Given the description of an element on the screen output the (x, y) to click on. 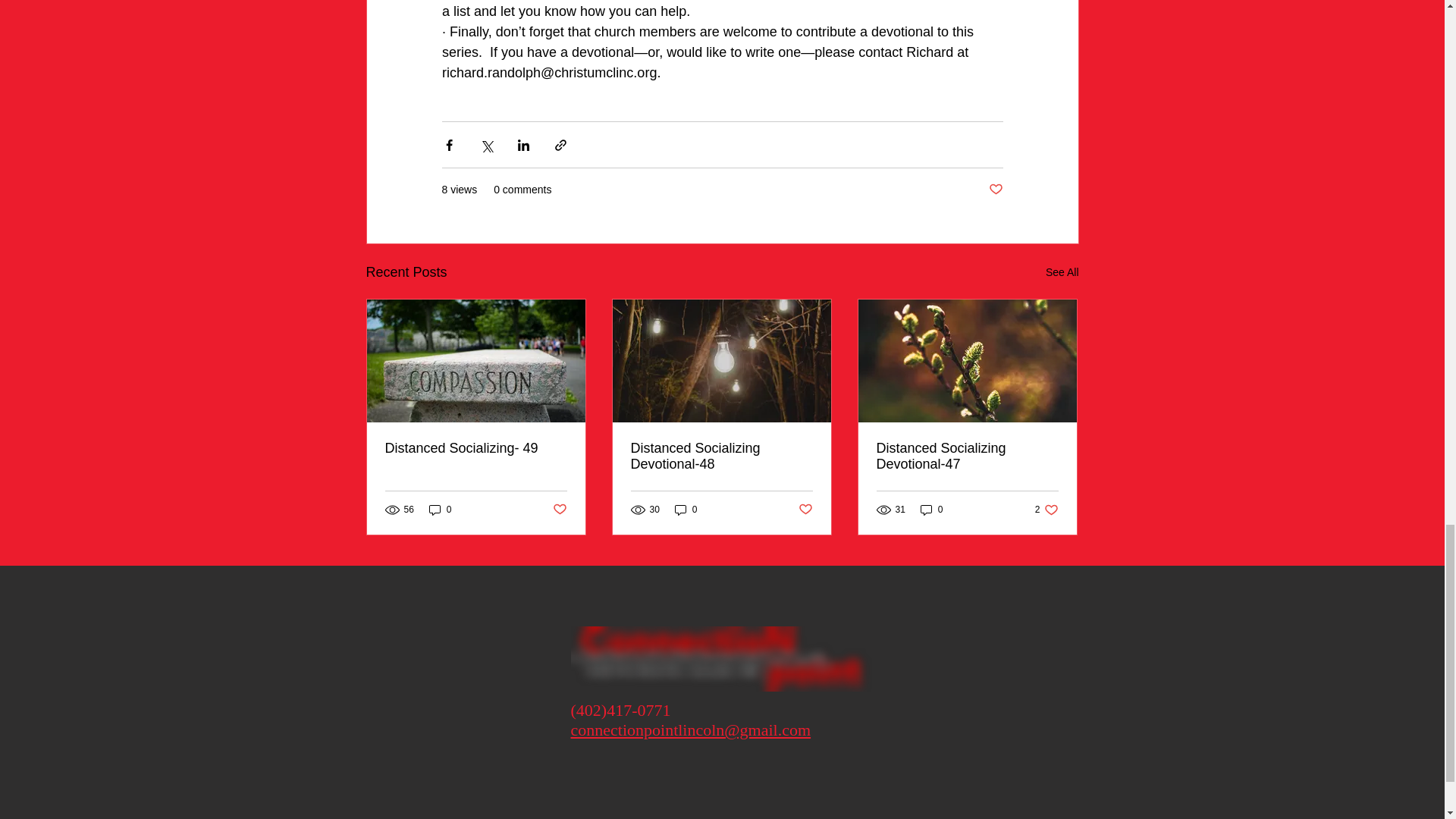
See All (1061, 272)
Post not marked as liked (558, 509)
Distanced Socializing- 49 (476, 448)
0 (931, 509)
Distanced Socializing Devotional-48 (721, 456)
Post not marked as liked (1046, 509)
0 (995, 189)
0 (685, 509)
Post not marked as liked (440, 509)
